Given the description of an element on the screen output the (x, y) to click on. 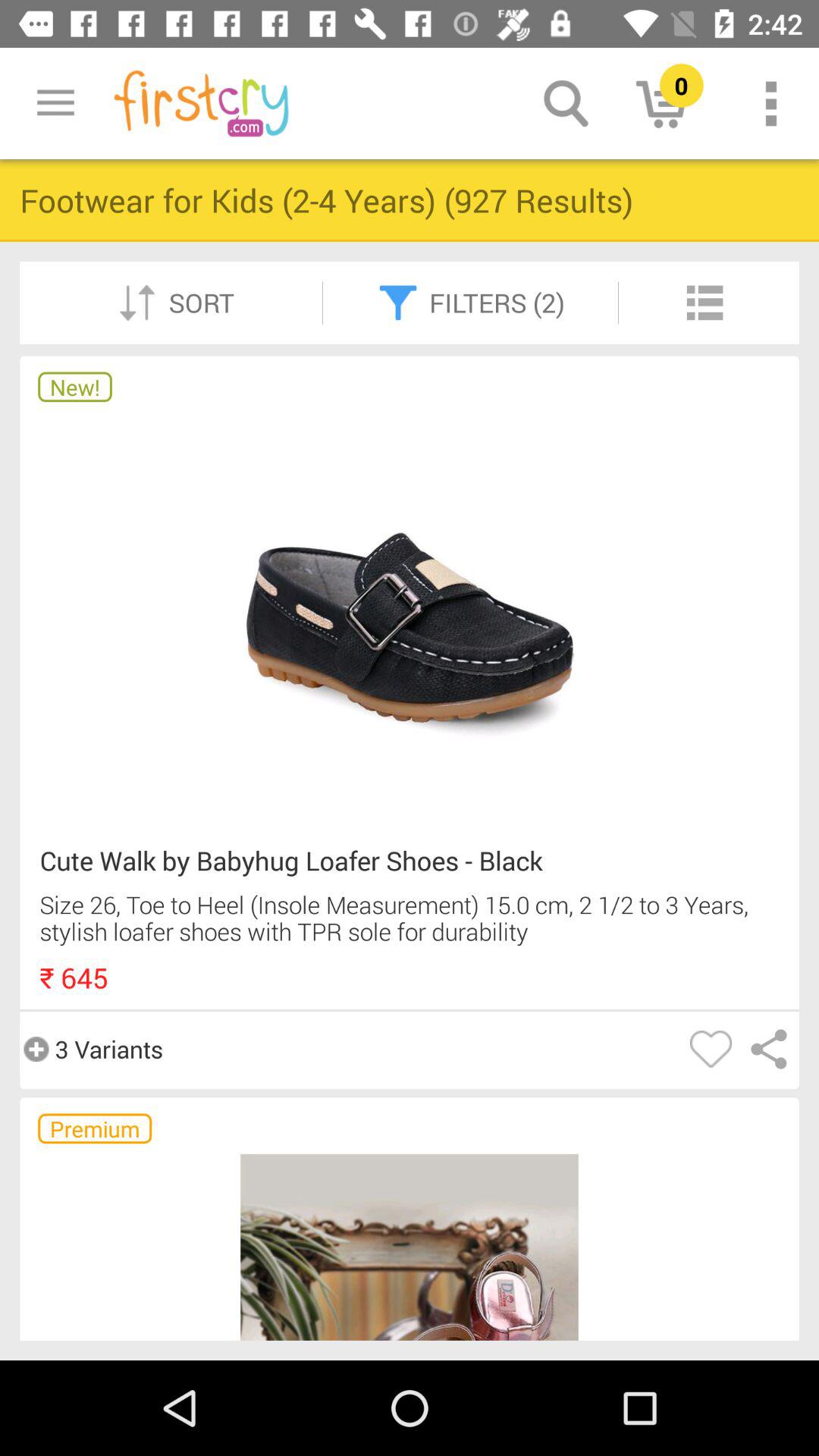
tap the 3 variants icon (91, 1049)
